Given the description of an element on the screen output the (x, y) to click on. 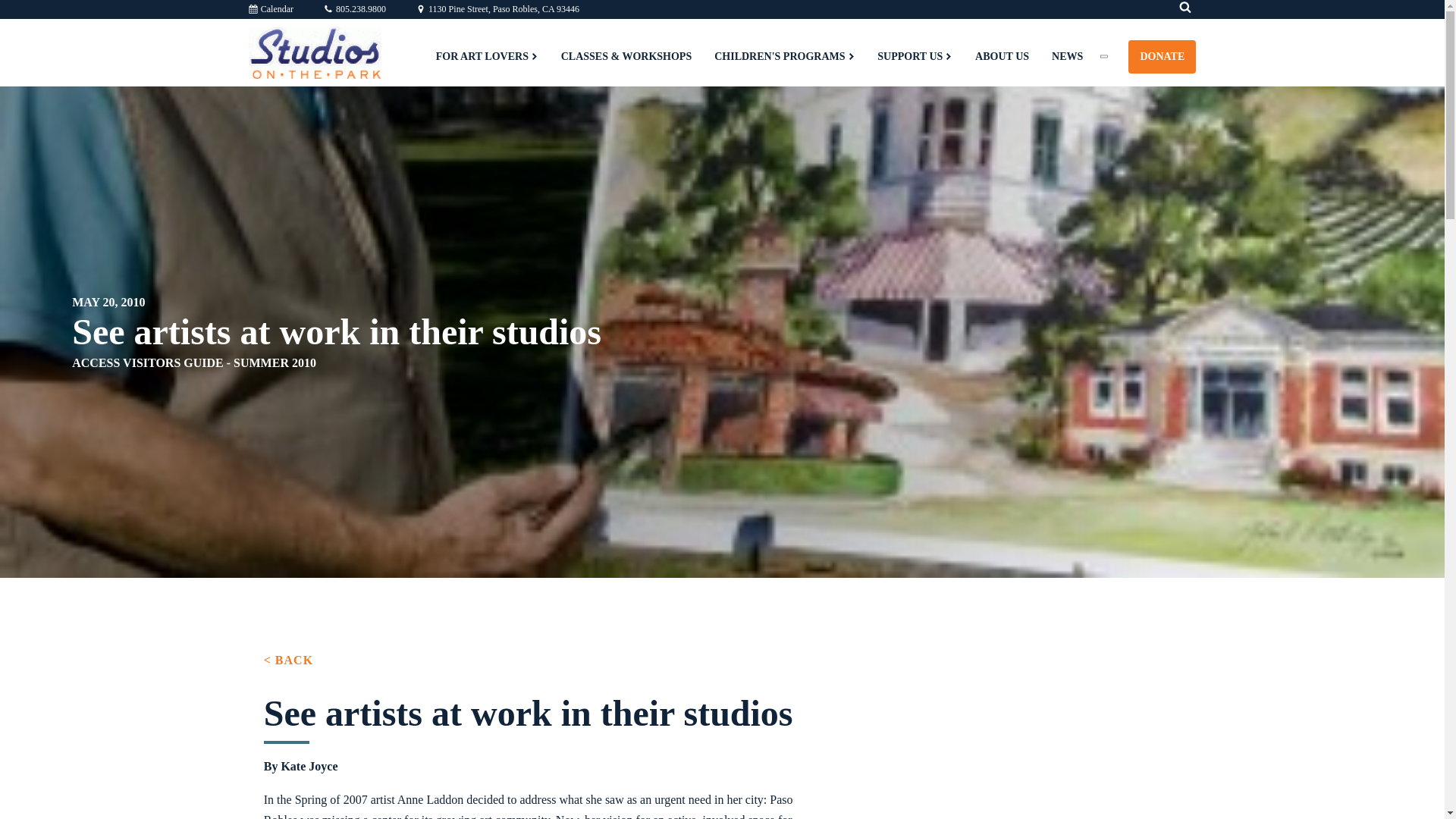
MORE (1111, 56)
NEWS (1067, 56)
Search (22, 12)
Calendar (271, 8)
DONATE (1161, 56)
FOR ART LOVERS (487, 56)
1130 Pine Street, Paso Robles, CA 93446 (497, 8)
ABOUT US (1002, 56)
805.238.9800 (354, 8)
CHILDREN'S PROGRAMS (784, 56)
